Given the description of an element on the screen output the (x, y) to click on. 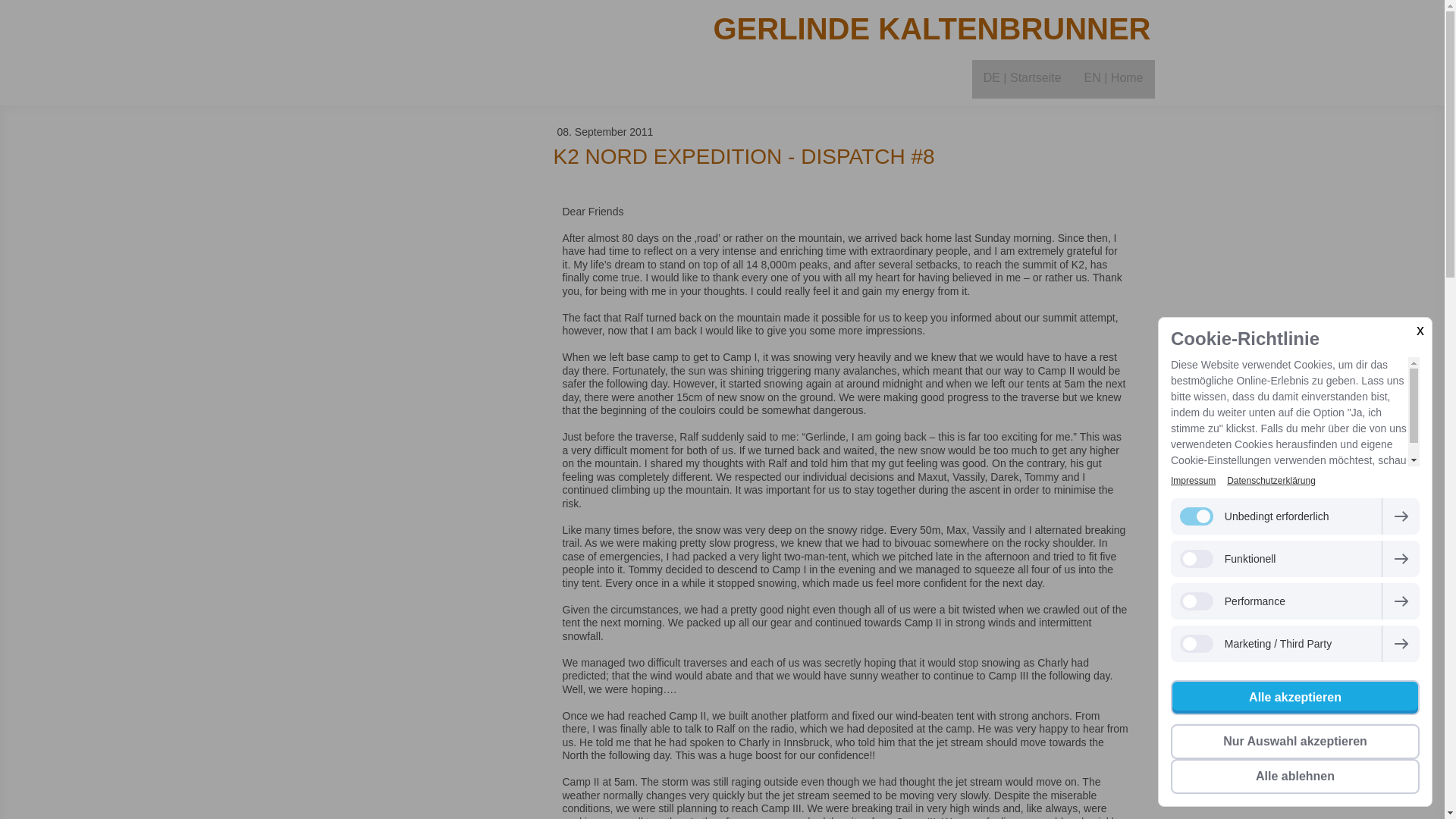
GERLINDE KALTENBRUNNER (872, 29)
